Given the description of an element on the screen output the (x, y) to click on. 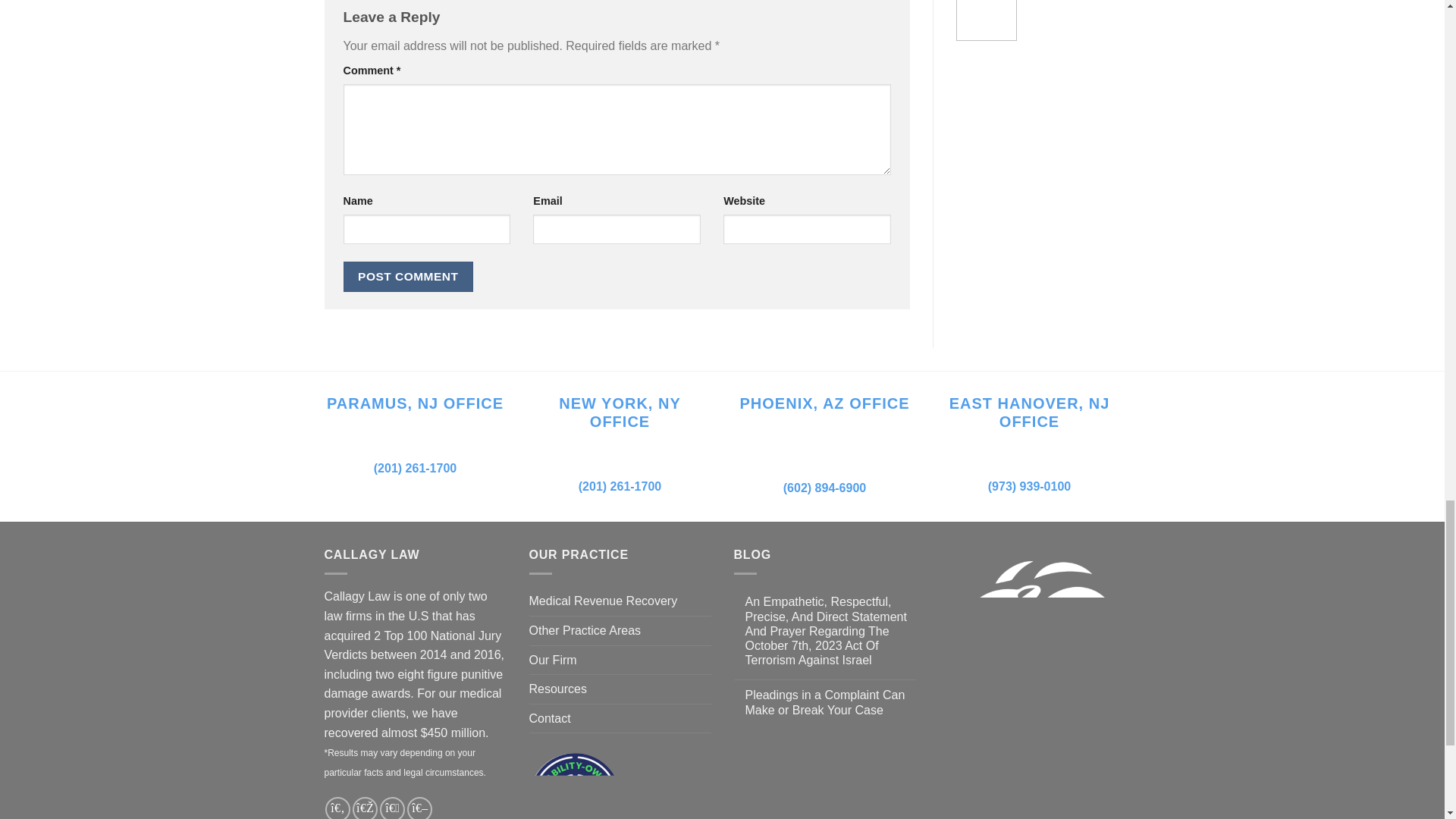
Follow on Instagram (364, 807)
Follow on Facebook (337, 807)
Pleadings in a Complaint Can Make or Break Your Case (829, 701)
Do I Want to Create an LLC or a Corporation? (986, 20)
Post Comment (407, 276)
Follow on Twitter (392, 807)
Follow on LinkedIn (419, 807)
